Given the description of an element on the screen output the (x, y) to click on. 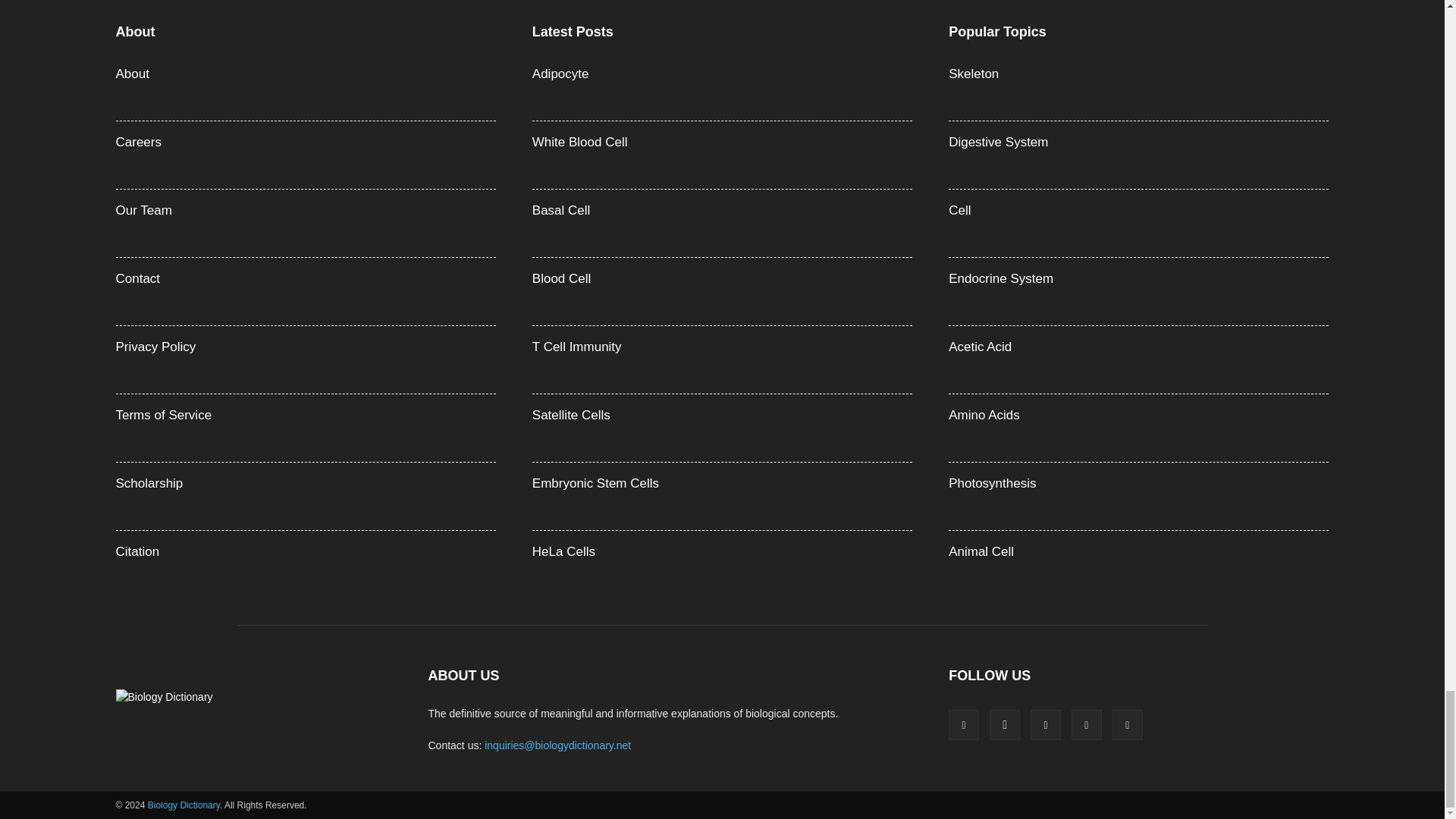
Careers (137, 142)
About (131, 73)
Terms of Service (163, 414)
Contact (137, 278)
Our Team (143, 210)
Scholarship (149, 482)
Privacy Policy (155, 346)
